Given the description of an element on the screen output the (x, y) to click on. 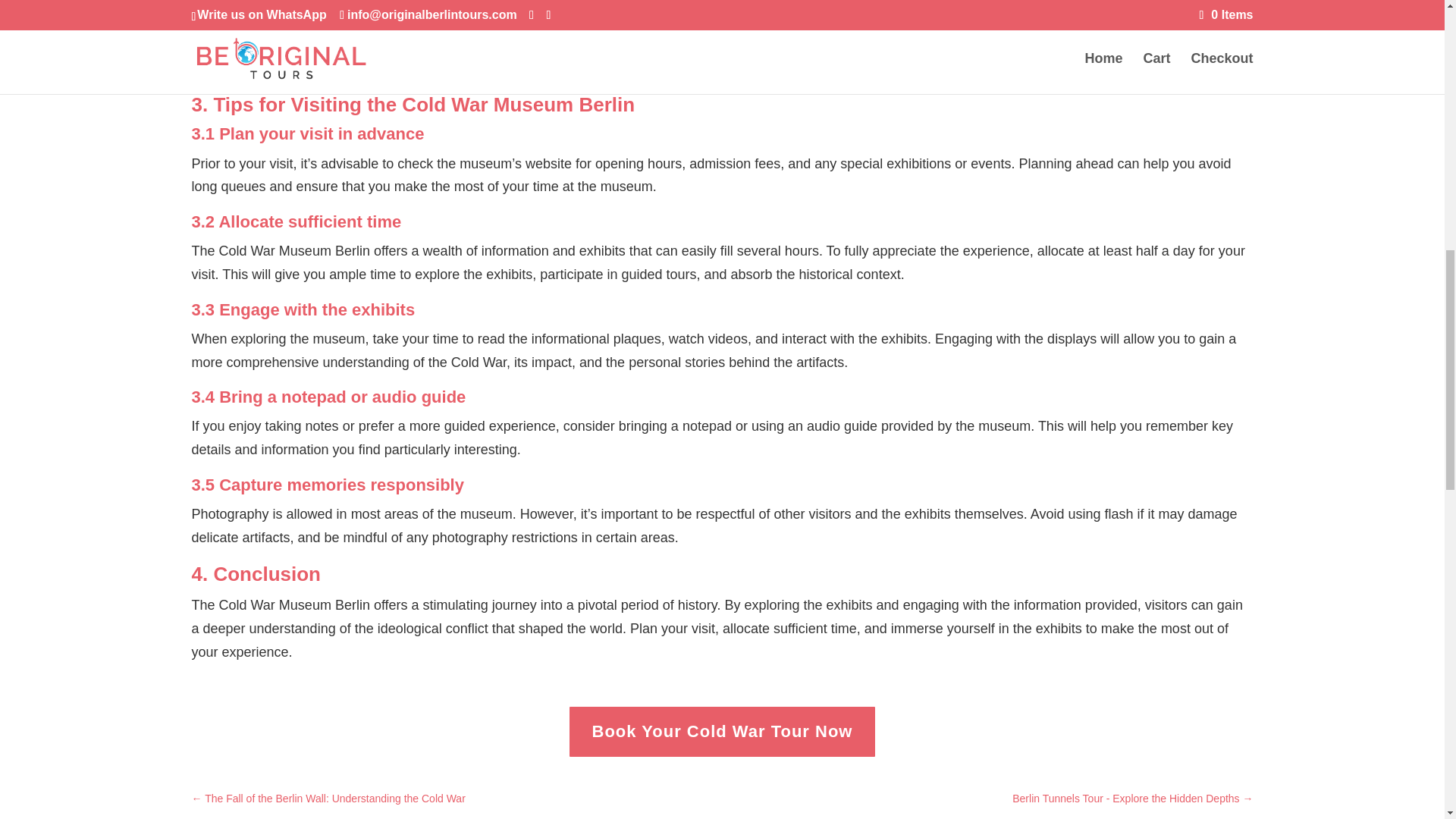
Book Your Cold War Tour Now (722, 731)
